Given the description of an element on the screen output the (x, y) to click on. 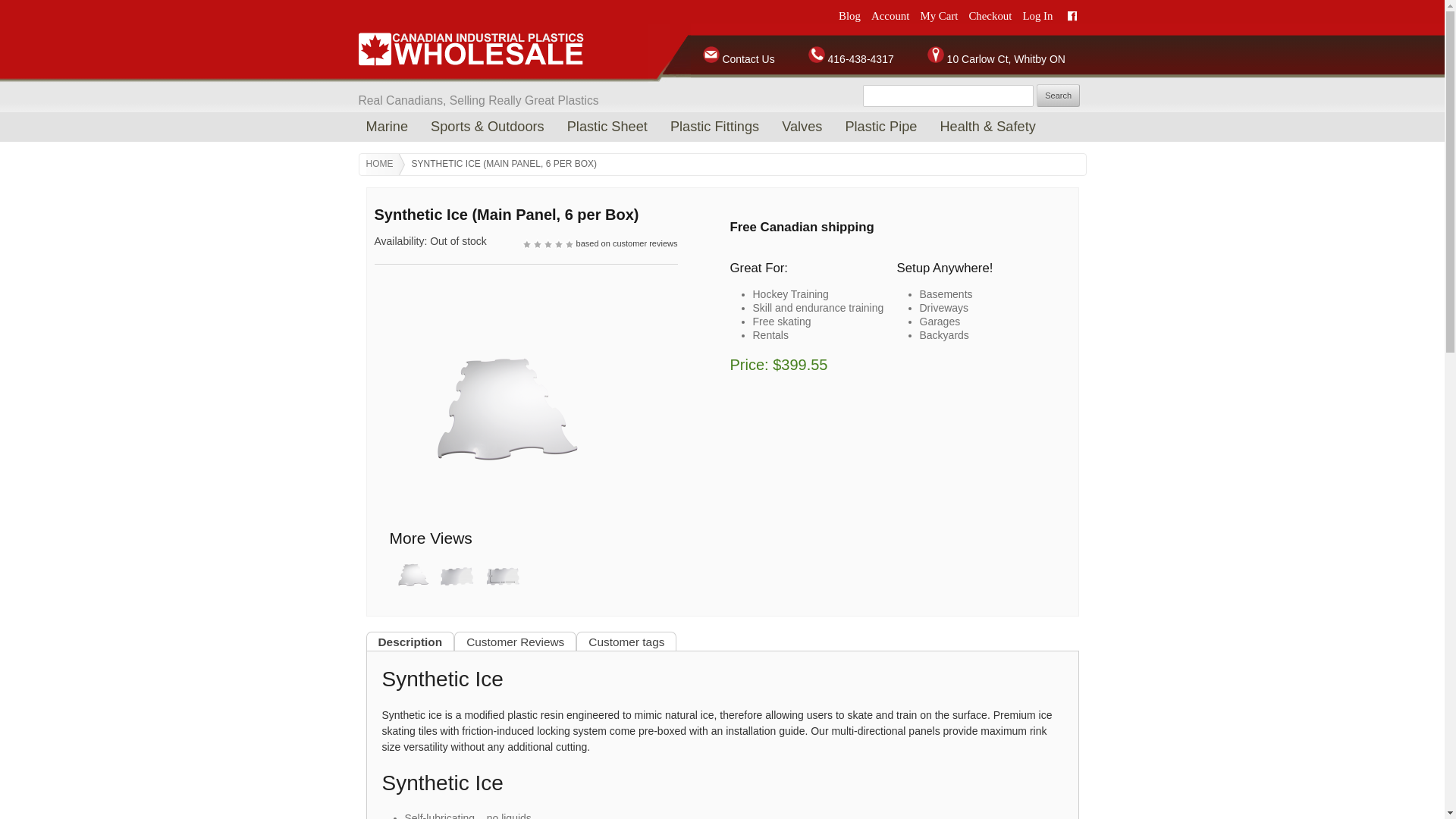
Log In (1037, 15)
My Cart (939, 15)
Plastic Pipe (880, 126)
Sani Armor Ice Synthetic Ice 2 (457, 592)
Checkout (989, 15)
Description (409, 641)
Go to Home Page (384, 164)
HOME (384, 164)
Blog (849, 15)
Search (1058, 95)
Sani Armor Ice Synthetic Ice 1 (411, 592)
Search (1058, 95)
My Cart (939, 15)
10 Carlow Ct, Whitby ON (979, 59)
Sani Armor Ice Synthetic Ice 1 (497, 406)
